Given the description of an element on the screen output the (x, y) to click on. 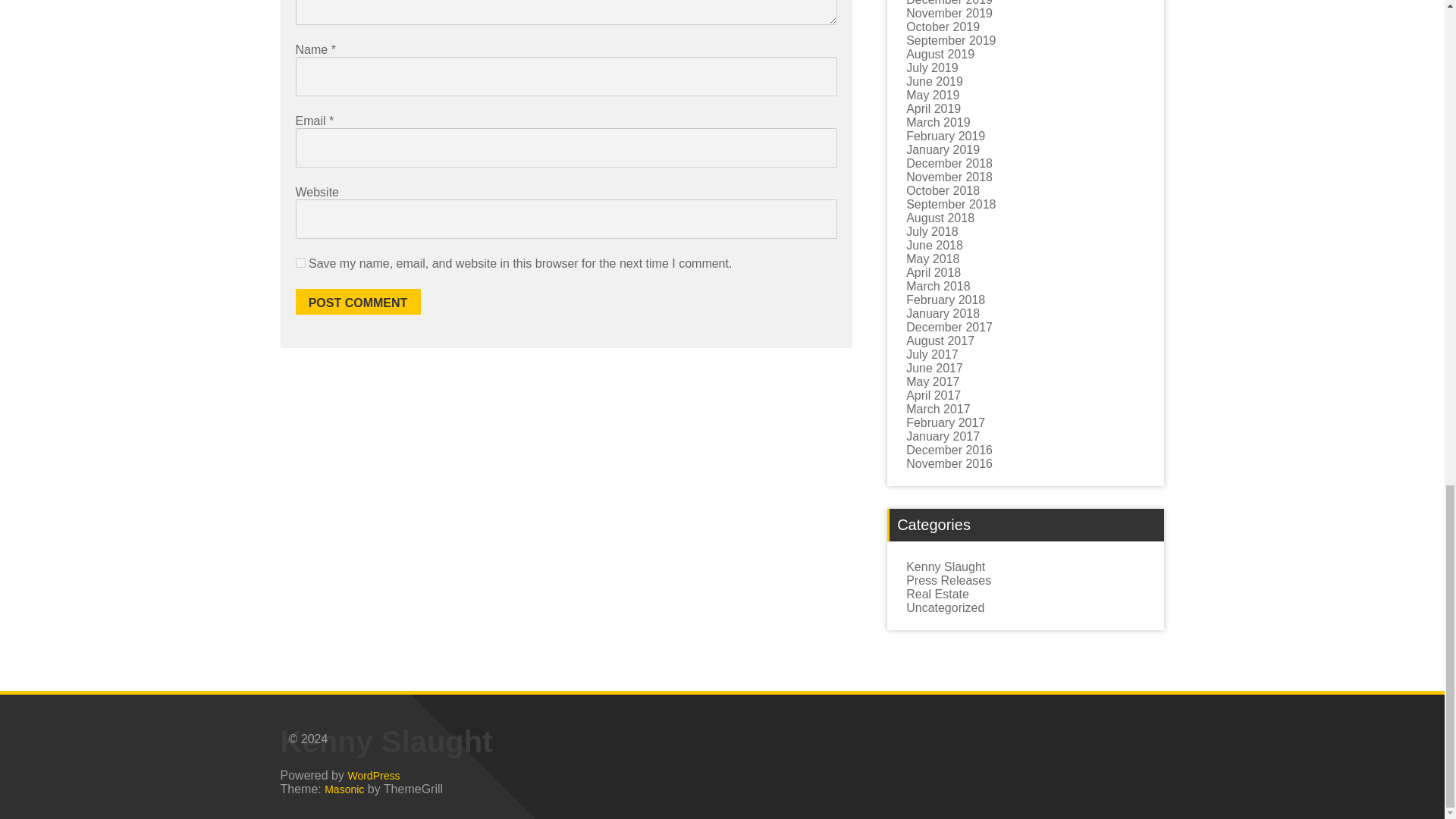
Masonic (344, 788)
Post Comment (357, 301)
WordPress (372, 775)
yes (300, 262)
December 2019 (948, 2)
Post Comment (357, 301)
